Given the description of an element on the screen output the (x, y) to click on. 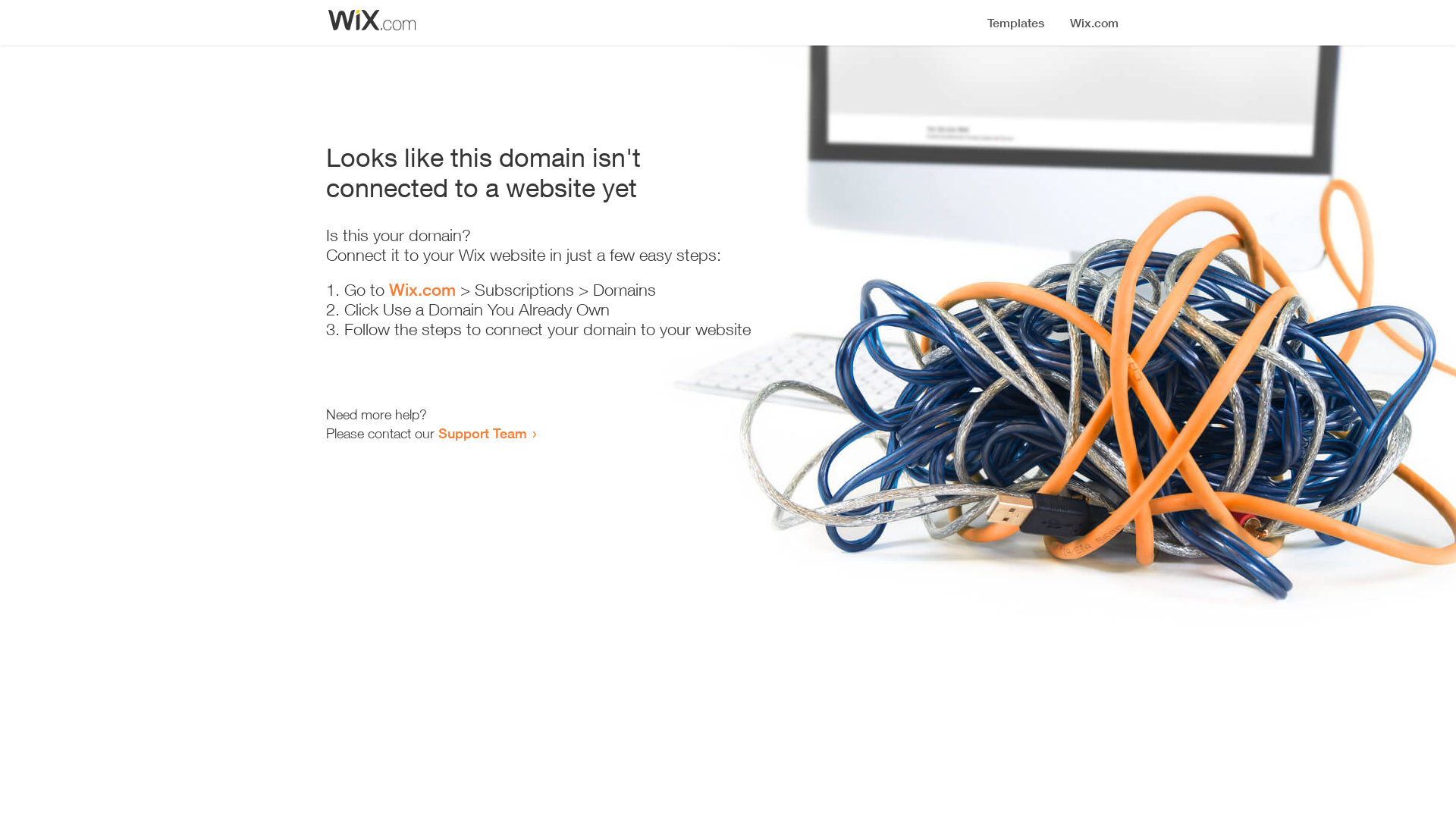
Wix.com Element type: text (422, 289)
Support Team Element type: text (482, 432)
